Given the description of an element on the screen output the (x, y) to click on. 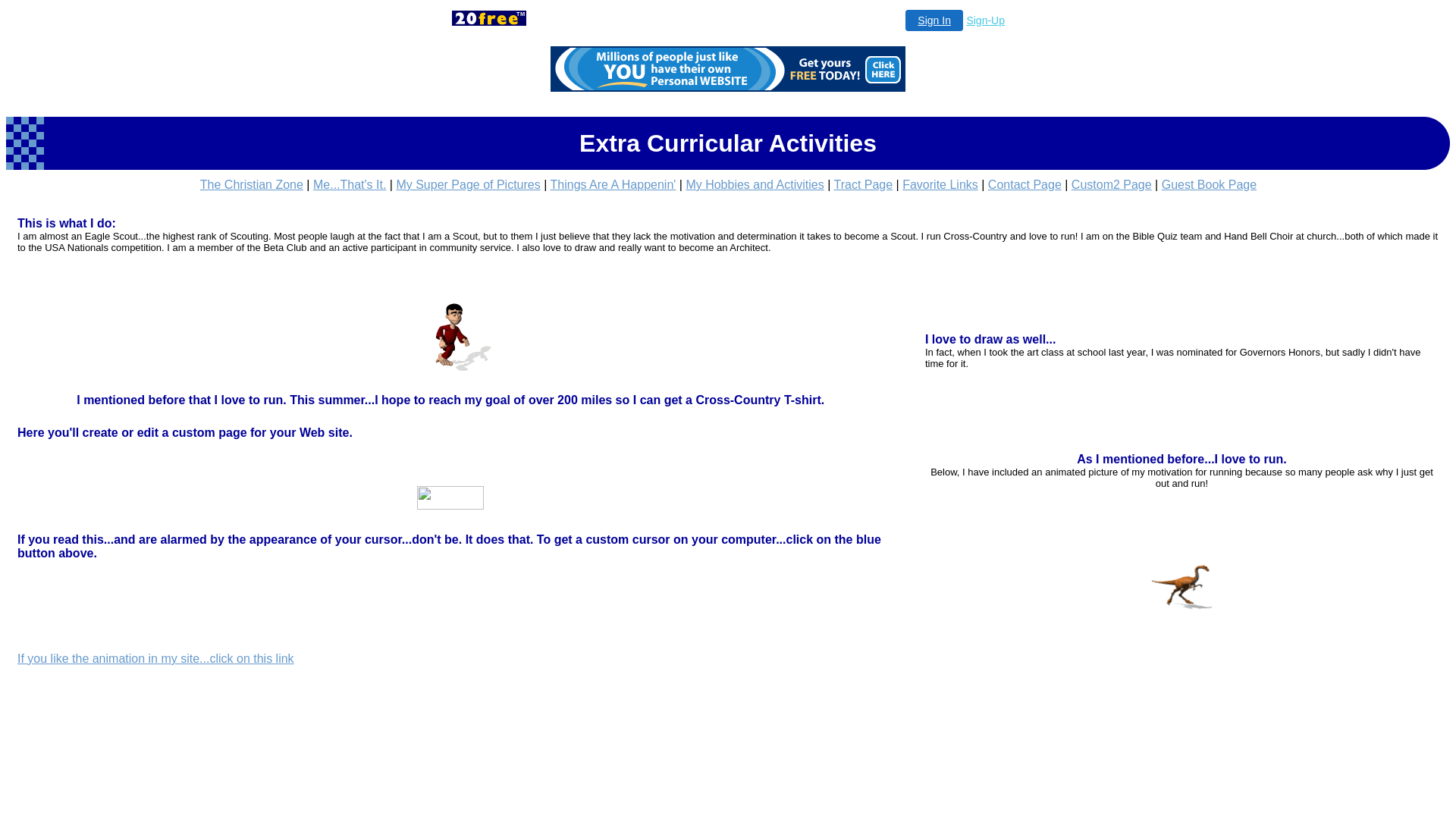
Favorite Links Element type: text (940, 184)
Me...That's It. Element type: text (349, 184)
Tract Page Element type: text (862, 184)
Guest Book Page Element type: text (1208, 184)
My Super Page of Pictures Element type: text (467, 184)
If you like the animation in my site...click on this link Element type: text (155, 658)
Contact Page Element type: text (1024, 184)
Custom2 Page Element type: text (1111, 184)
Sign-Up Element type: text (985, 20)
Things Are A Happenin' Element type: text (613, 184)
The Christian Zone Element type: text (251, 184)
My Hobbies and Activities Element type: text (754, 184)
Sign In Element type: text (934, 20)
